Given the description of an element on the screen output the (x, y) to click on. 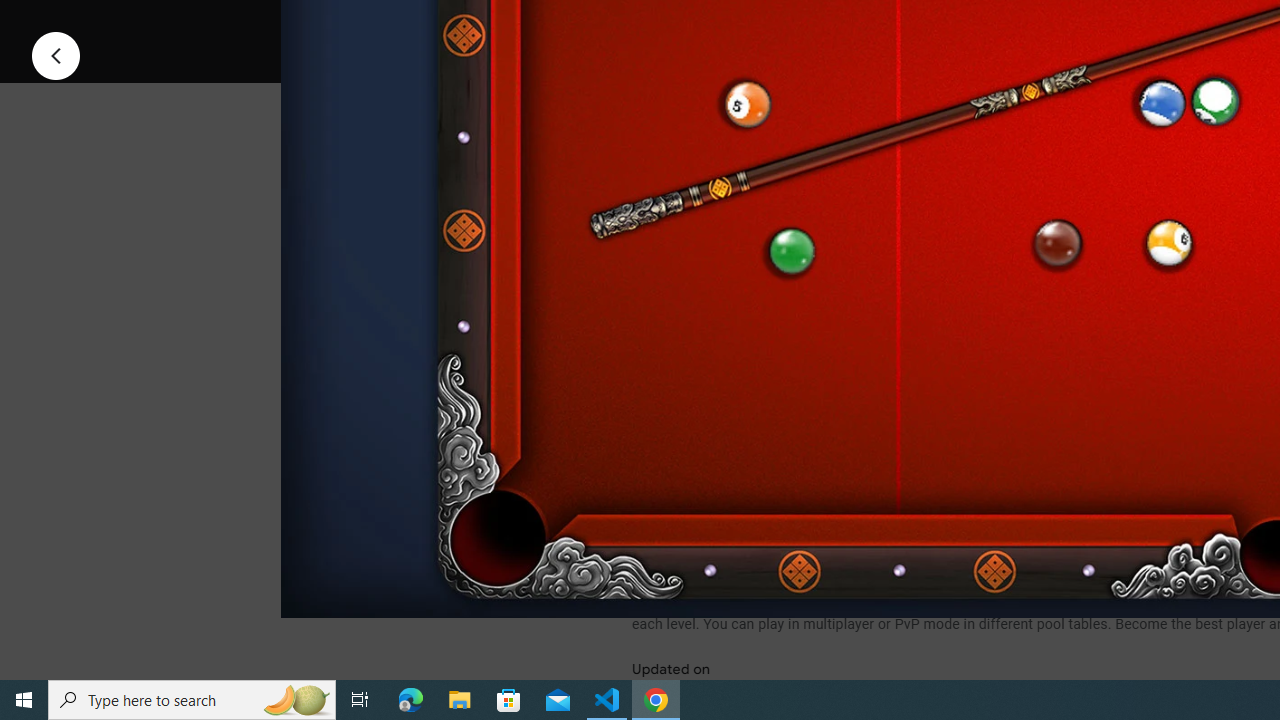
Previous (55, 54)
Screenshot image (895, 271)
Share (890, 24)
Add to wishlist (1014, 24)
See more information on About this game (830, 477)
Install (732, 24)
